Given the description of an element on the screen output the (x, y) to click on. 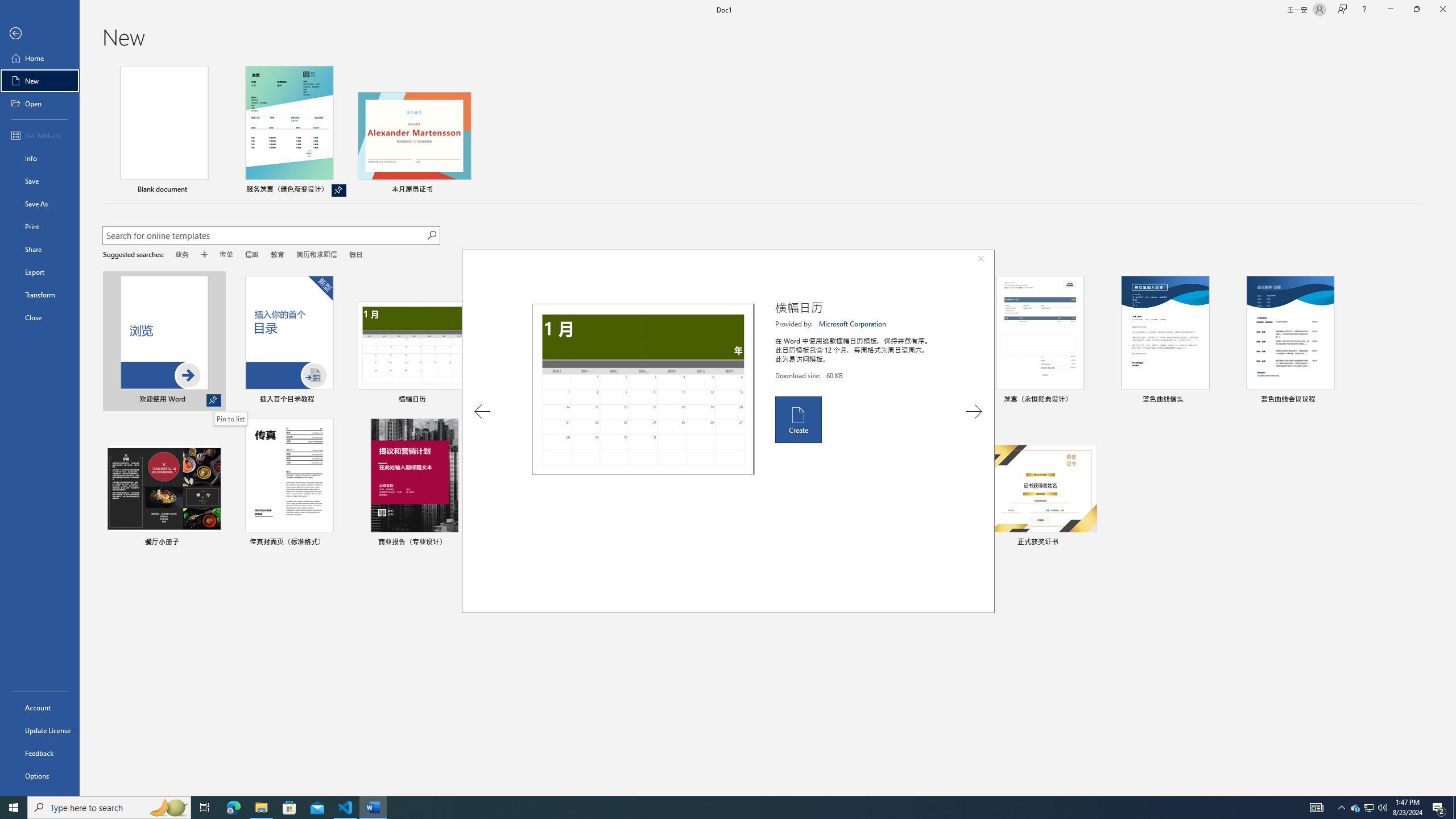
Back (40, 33)
Transform (40, 294)
Pin to list (1089, 543)
Create (797, 419)
